Given the description of an element on the screen output the (x, y) to click on. 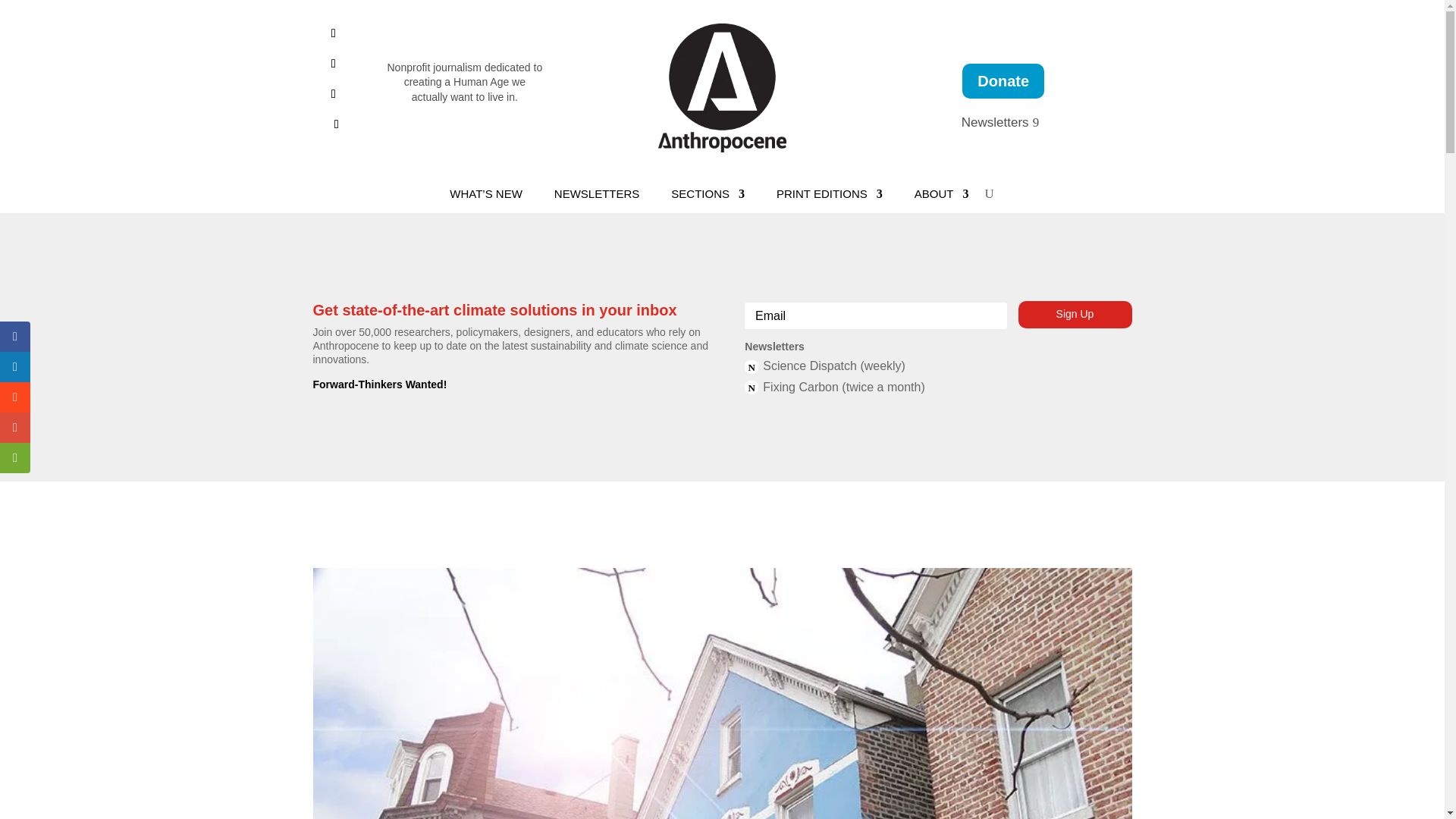
PRINT EDITIONS (829, 197)
Follow on RSS (336, 124)
Newsletters (1003, 123)
SECTIONS (707, 197)
Donate (1002, 80)
Follow on Facebook (333, 33)
Follow on LinkedIn (333, 63)
Follow on FlipBoard (333, 93)
NEWSLETTERS (597, 197)
Anthropocene-mark250 (722, 87)
